Given the description of an element on the screen output the (x, y) to click on. 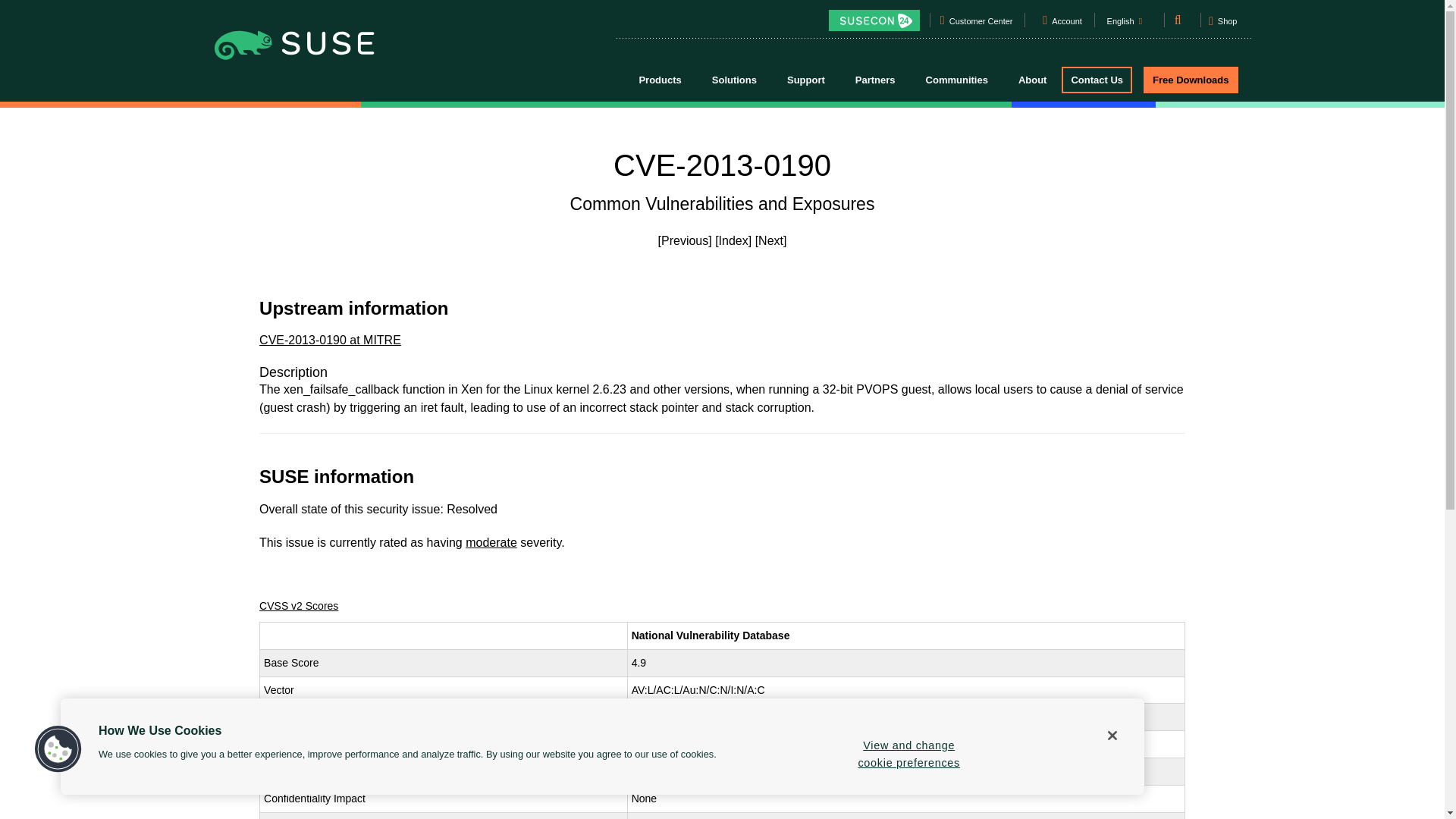
Account (1066, 23)
Shop (1222, 25)
Customer Center (980, 23)
Cookies Button (57, 748)
